Given the description of an element on the screen output the (x, y) to click on. 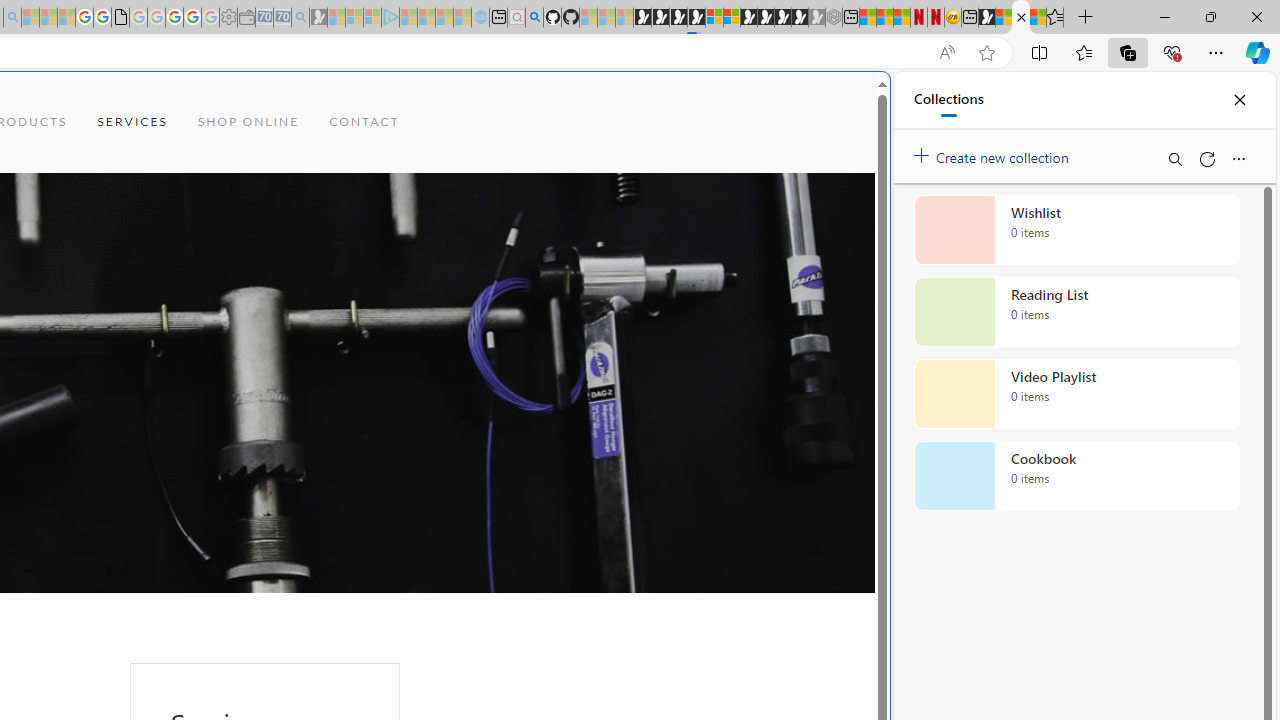
Reading List collection, 0 items (1076, 312)
Cookbook collection, 0 items (1076, 475)
Favorites (1083, 52)
Close (1239, 99)
More options menu (1238, 158)
Microsoft Start - Sleeping (444, 17)
Wishlist collection, 0 items (1076, 229)
Search or enter web address (343, 191)
